Given the description of an element on the screen output the (x, y) to click on. 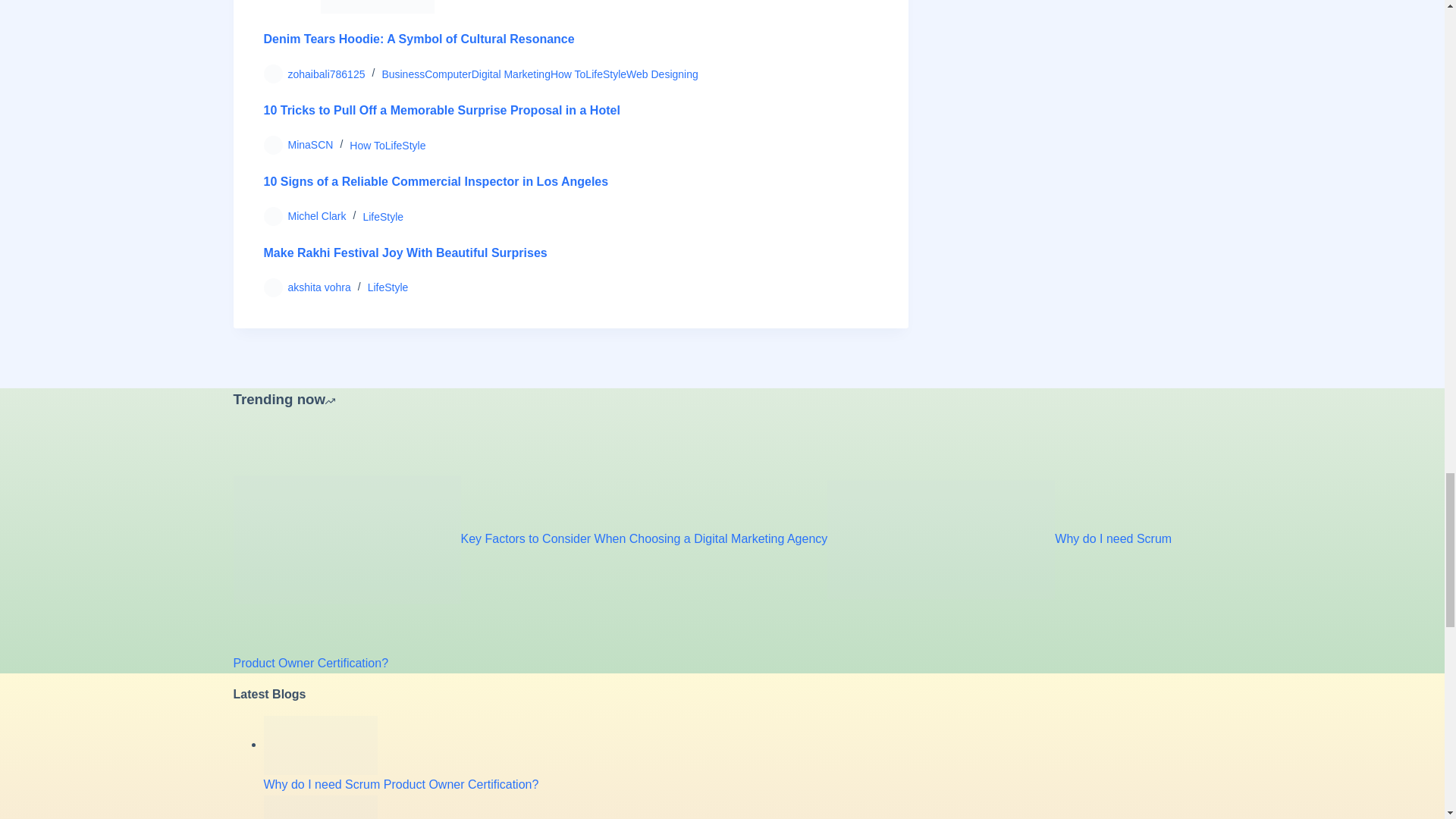
Posts by akshita vohra (319, 287)
Why do I need Scrum Product Owner Certification? 9 (320, 745)
Posts by Michel Clark (317, 216)
Posts by MinaSCN (310, 145)
Posts by zohaibali786125 (326, 73)
